Given the description of an element on the screen output the (x, y) to click on. 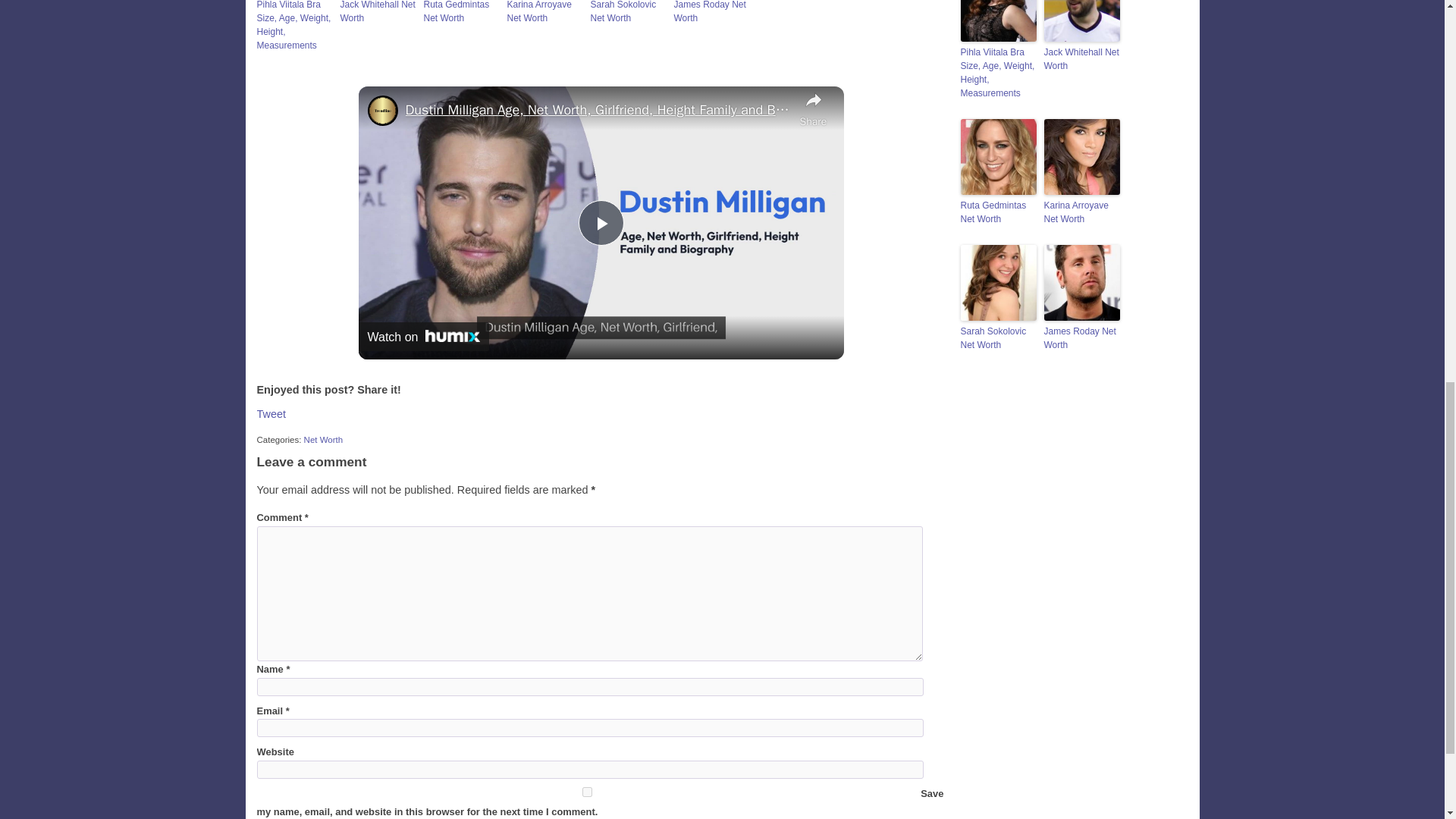
Jack Whitehall Net Worth (376, 12)
Play Video (600, 222)
Pihla Viitala Bra Size, Age, Weight, Height, Measurements (293, 26)
yes (586, 791)
